Given the description of an element on the screen output the (x, y) to click on. 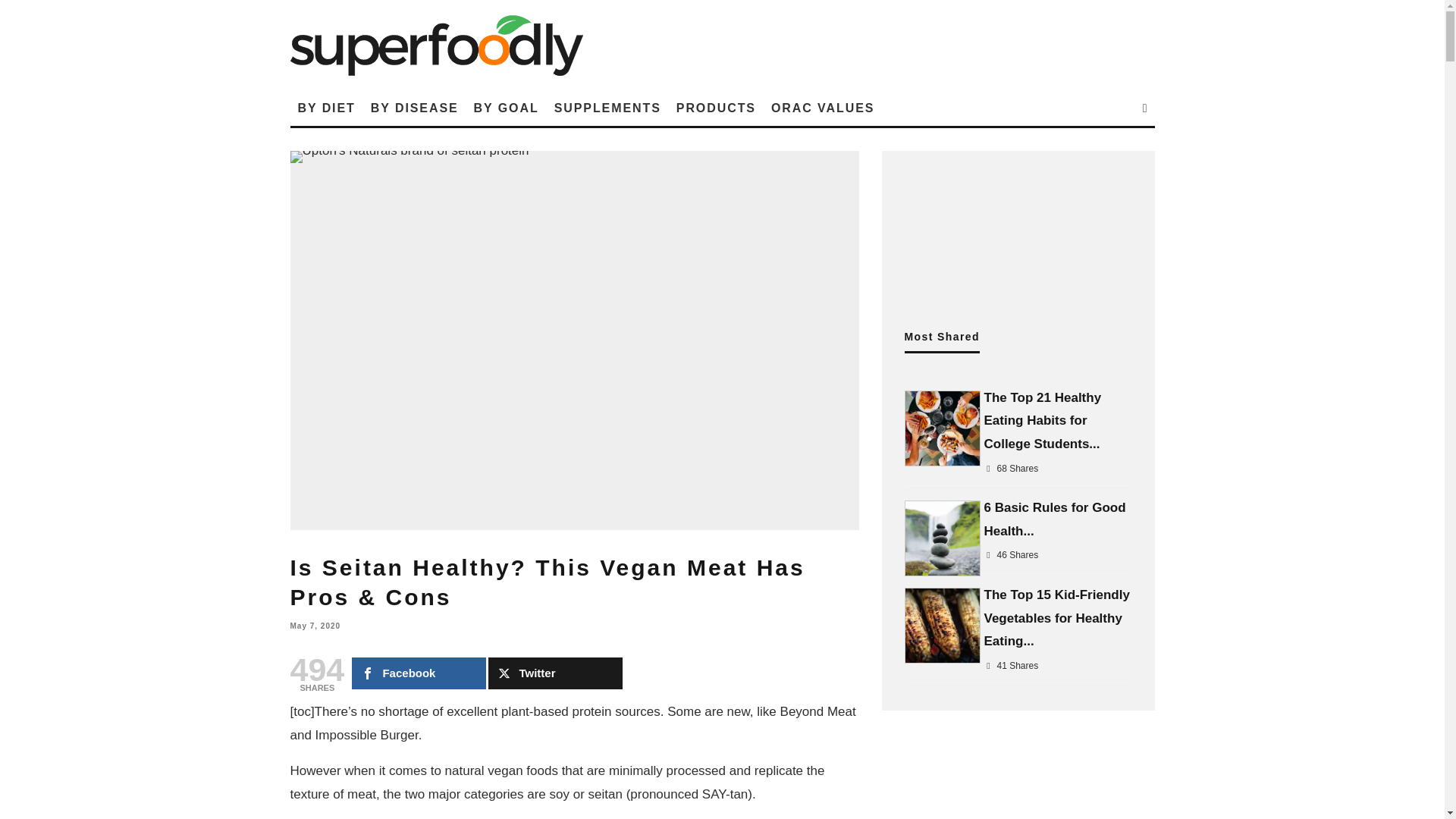
SUPPLEMENTS (607, 108)
BY DIET (325, 108)
BY DISEASE (413, 108)
BY GOAL (506, 108)
